Given the description of an element on the screen output the (x, y) to click on. 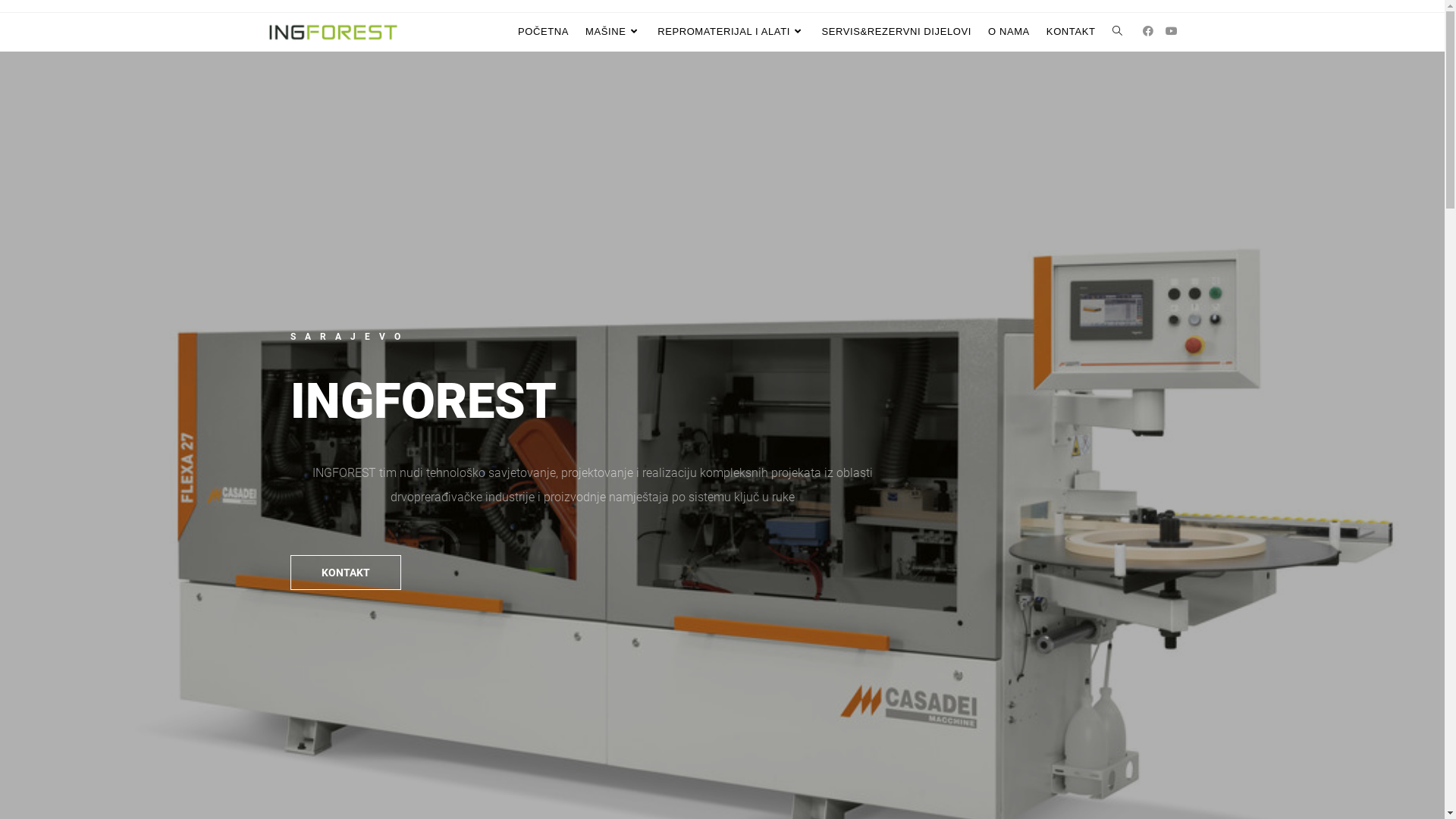
KONTAKT Element type: text (344, 572)
KONTAKT Element type: text (1071, 31)
REPROMATERIJAL I ALATI Element type: text (730, 31)
SERVIS&REZERVNI DIJELOVI Element type: text (896, 31)
O NAMA Element type: text (1008, 31)
